Given the description of an element on the screen output the (x, y) to click on. 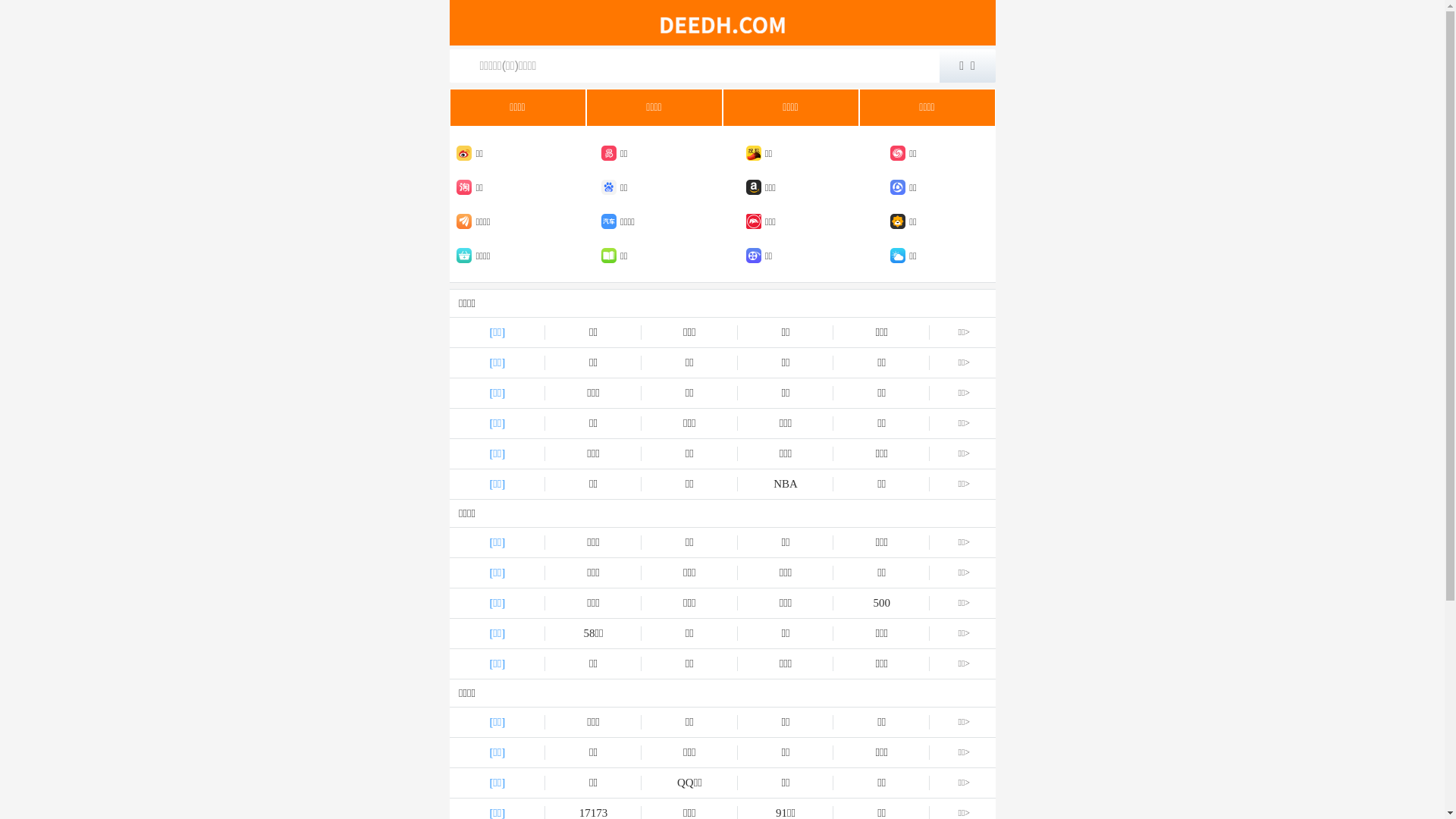
NBA Element type: text (785, 483)
500 Element type: text (881, 603)
